Given the description of an element on the screen output the (x, y) to click on. 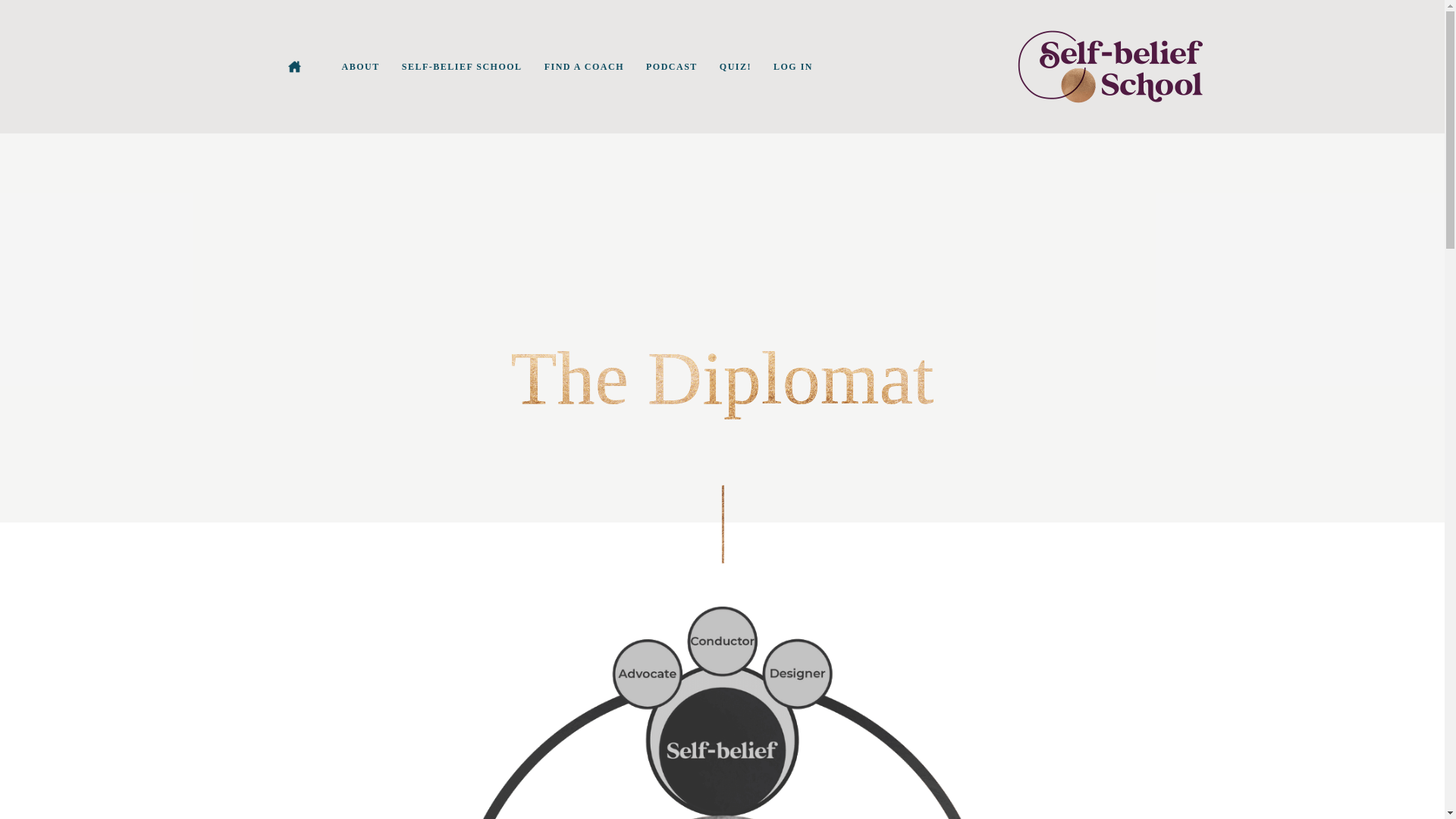
ABOUT (360, 66)
PODCAST (670, 66)
house (294, 66)
logo (1109, 66)
LOG IN (793, 66)
SELF-BELIEF SCHOOL (461, 66)
FIND A COACH (584, 66)
QUIZ! (735, 66)
